Given the description of an element on the screen output the (x, y) to click on. 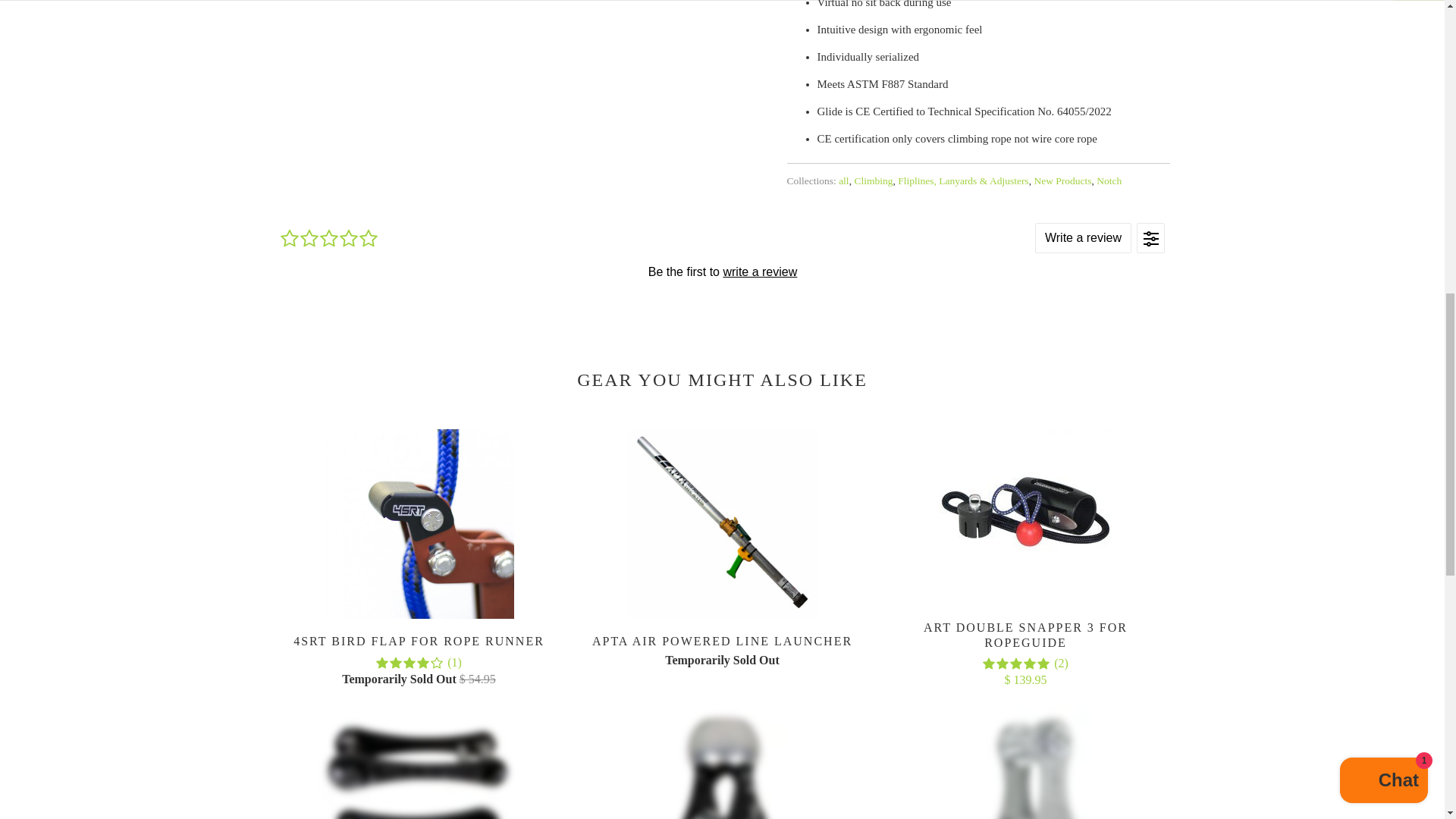
Climbing (872, 180)
all (843, 180)
Notch (1108, 180)
New Products (1061, 180)
